Given the description of an element on the screen output the (x, y) to click on. 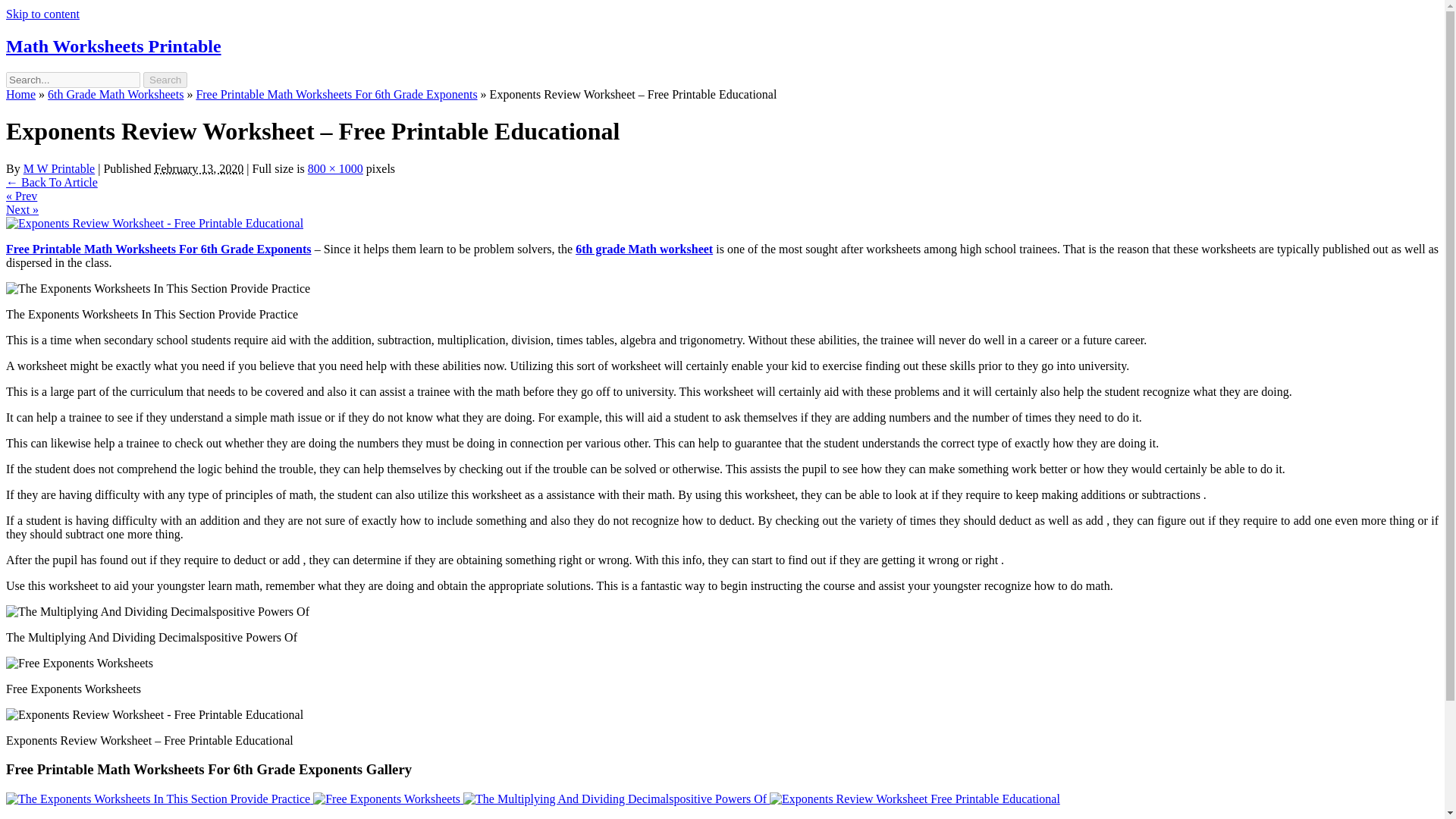
Search (164, 79)
6th grade Math worksheet (644, 248)
Math Worksheets Printable (113, 46)
M W Printable (59, 168)
free exponents worksheets (78, 663)
The Exponents Worksheets In This Section Provide Practice (159, 798)
Home (19, 93)
the exponents worksheets in this section provide practice (157, 288)
Link to full-size image (334, 168)
4:19 pm (199, 168)
Skip to content (42, 13)
the multiplying and dividing decimalspositive powers of (156, 612)
exponents review worksheet free printable educational (153, 714)
View all posts by M W Printable (59, 168)
